Given the description of an element on the screen output the (x, y) to click on. 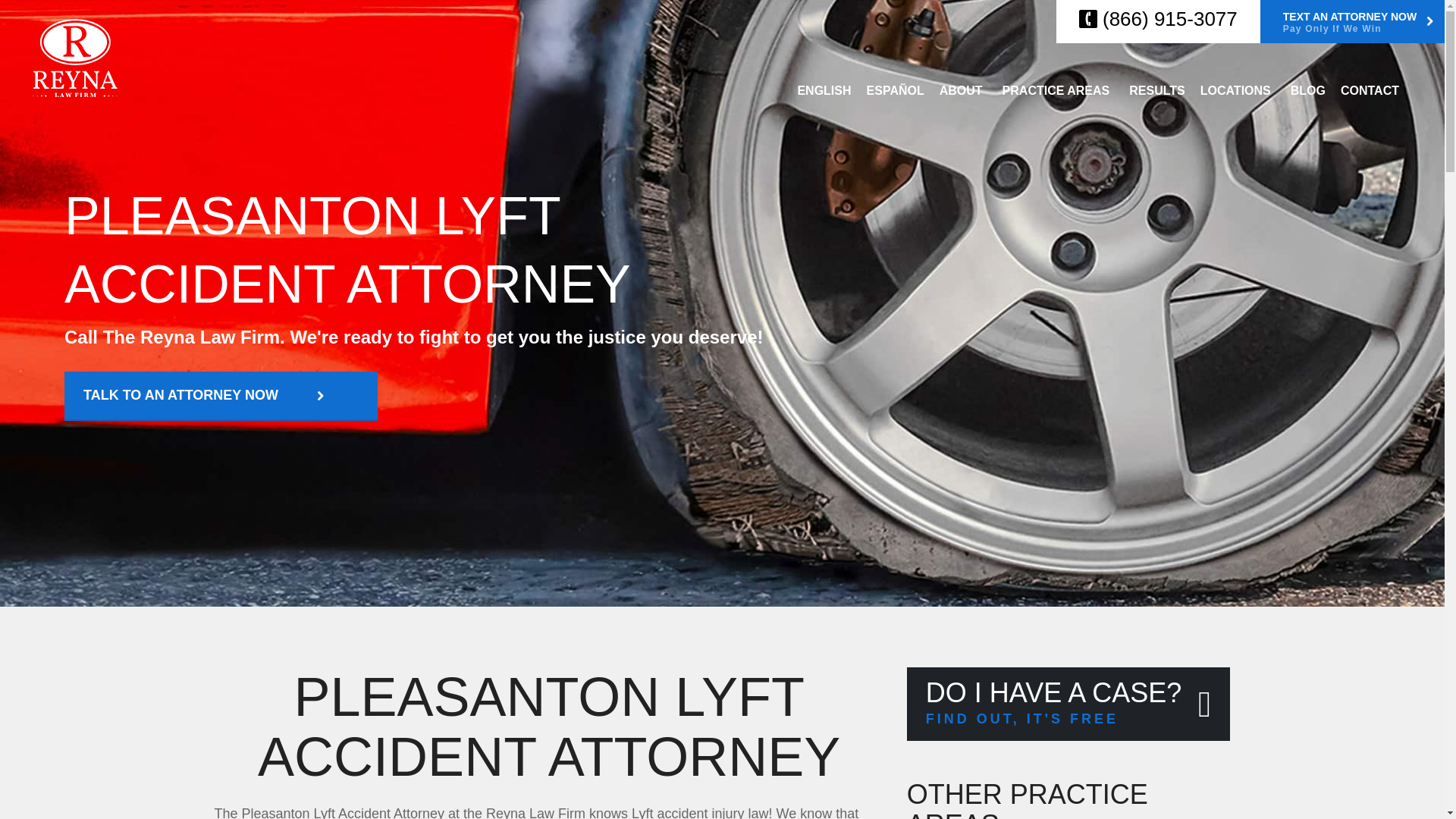
ENGLISH (824, 91)
PRACTICE AREAS (1058, 91)
ABOUT (962, 91)
English (824, 91)
